Given the description of an element on the screen output the (x, y) to click on. 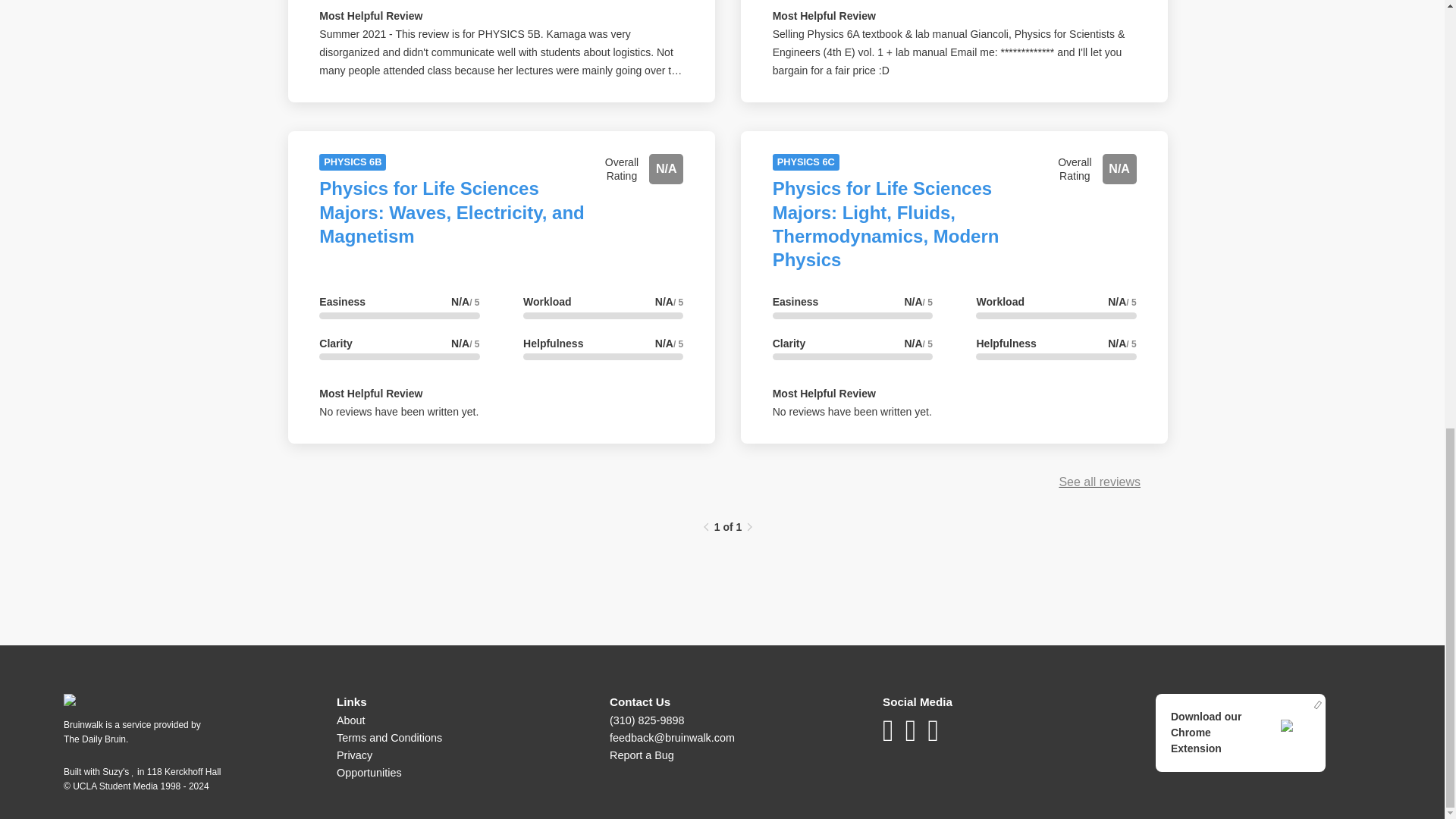
Most Helpful Review (824, 15)
About (350, 720)
Most Helpful Review (370, 393)
Most Helpful Review (824, 393)
No reviews have been written yet. (398, 411)
PHYSICS 6B (351, 161)
See all reviews (1099, 481)
Most Helpful Review (370, 15)
